Given the description of an element on the screen output the (x, y) to click on. 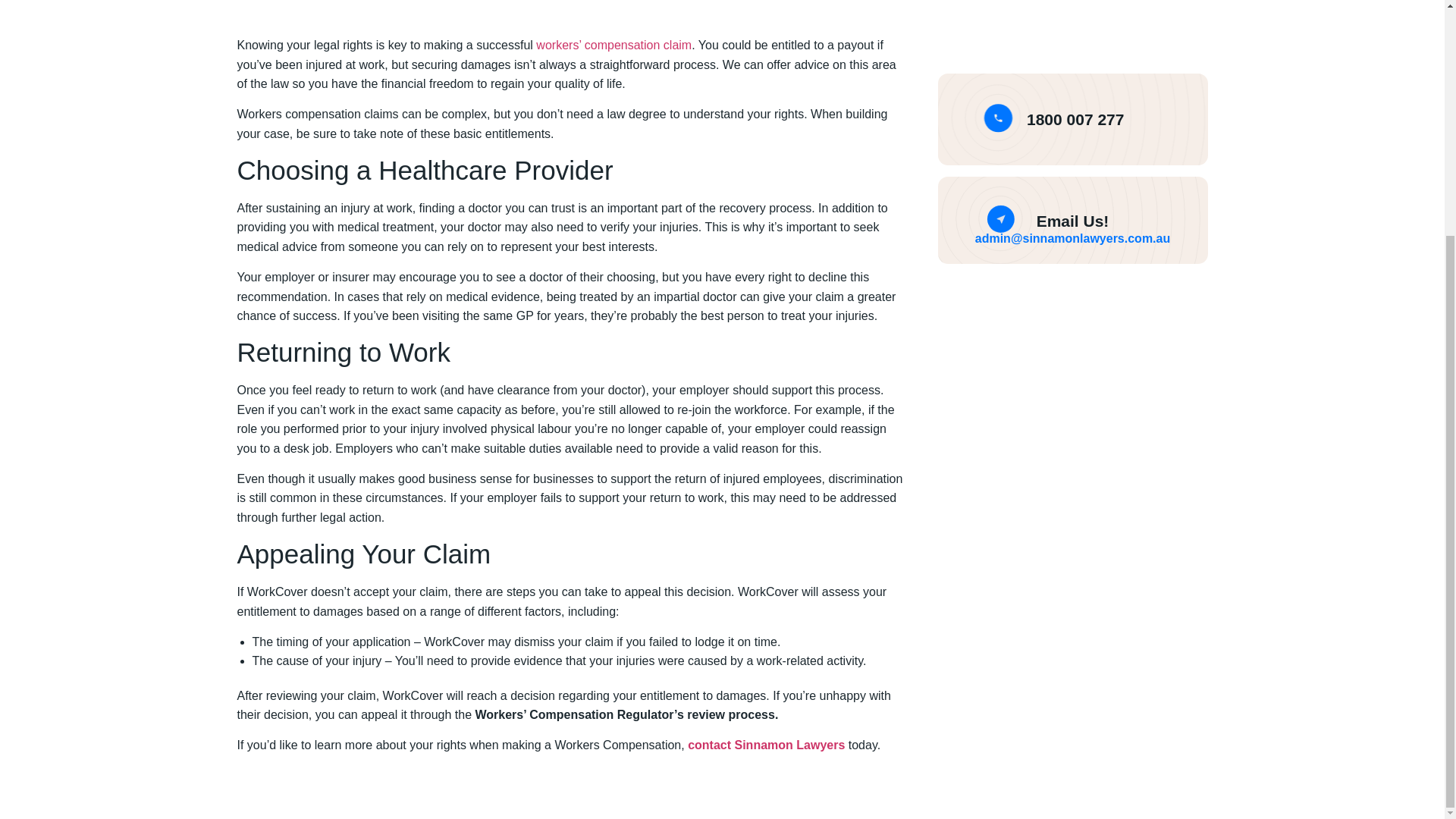
Email Us! (1072, 221)
contact Sinnamon Lawyers (765, 744)
worker (553, 44)
1800 007 277 (1075, 118)
